Given the description of an element on the screen output the (x, y) to click on. 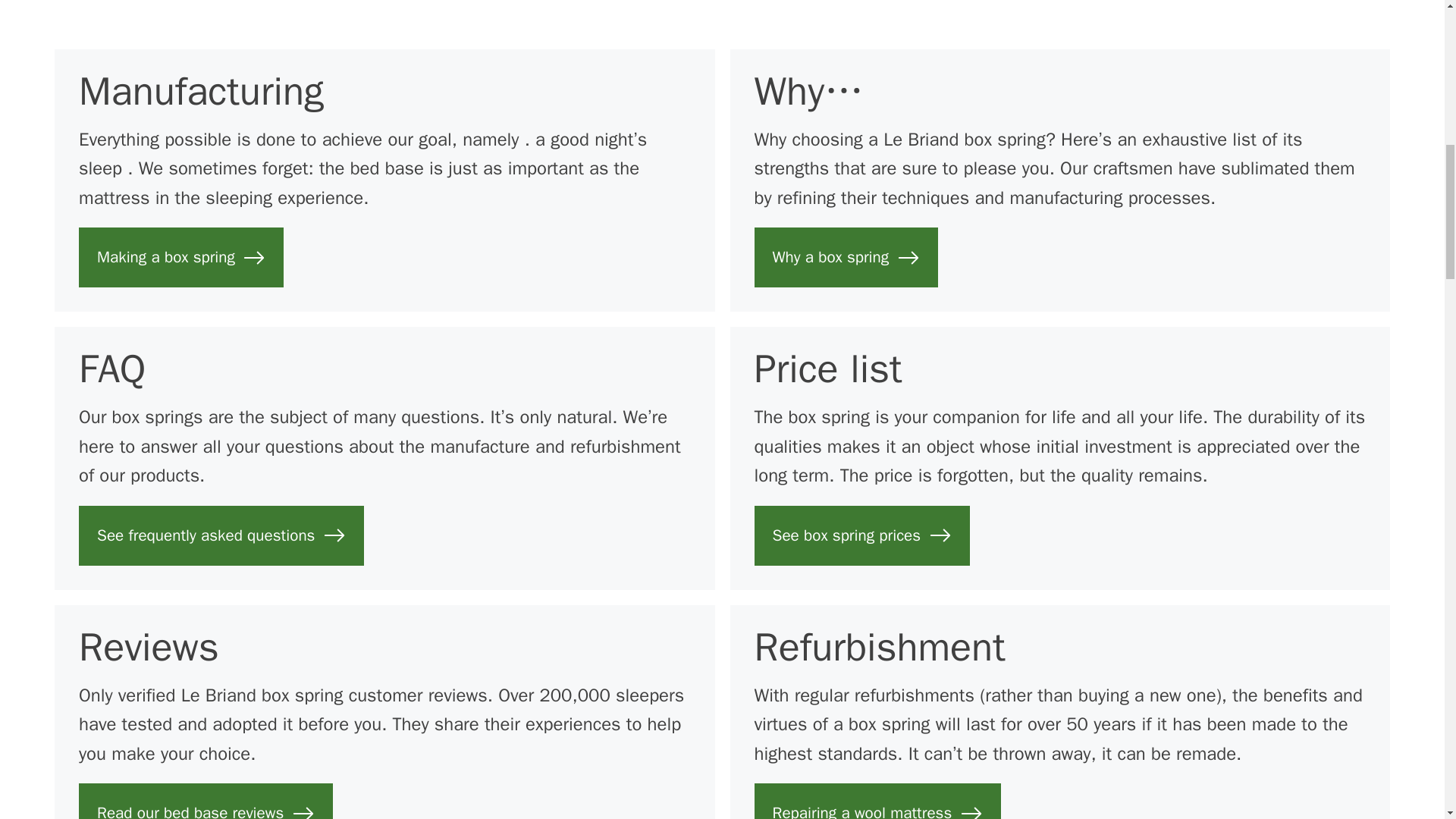
Scroll back to top (1406, 720)
See frequently asked questions (221, 535)
Why a box spring (845, 257)
Repairing a wool mattress (877, 800)
Making a box spring (180, 257)
See box spring prices (861, 535)
Read our bed base reviews (205, 800)
